Given the description of an element on the screen output the (x, y) to click on. 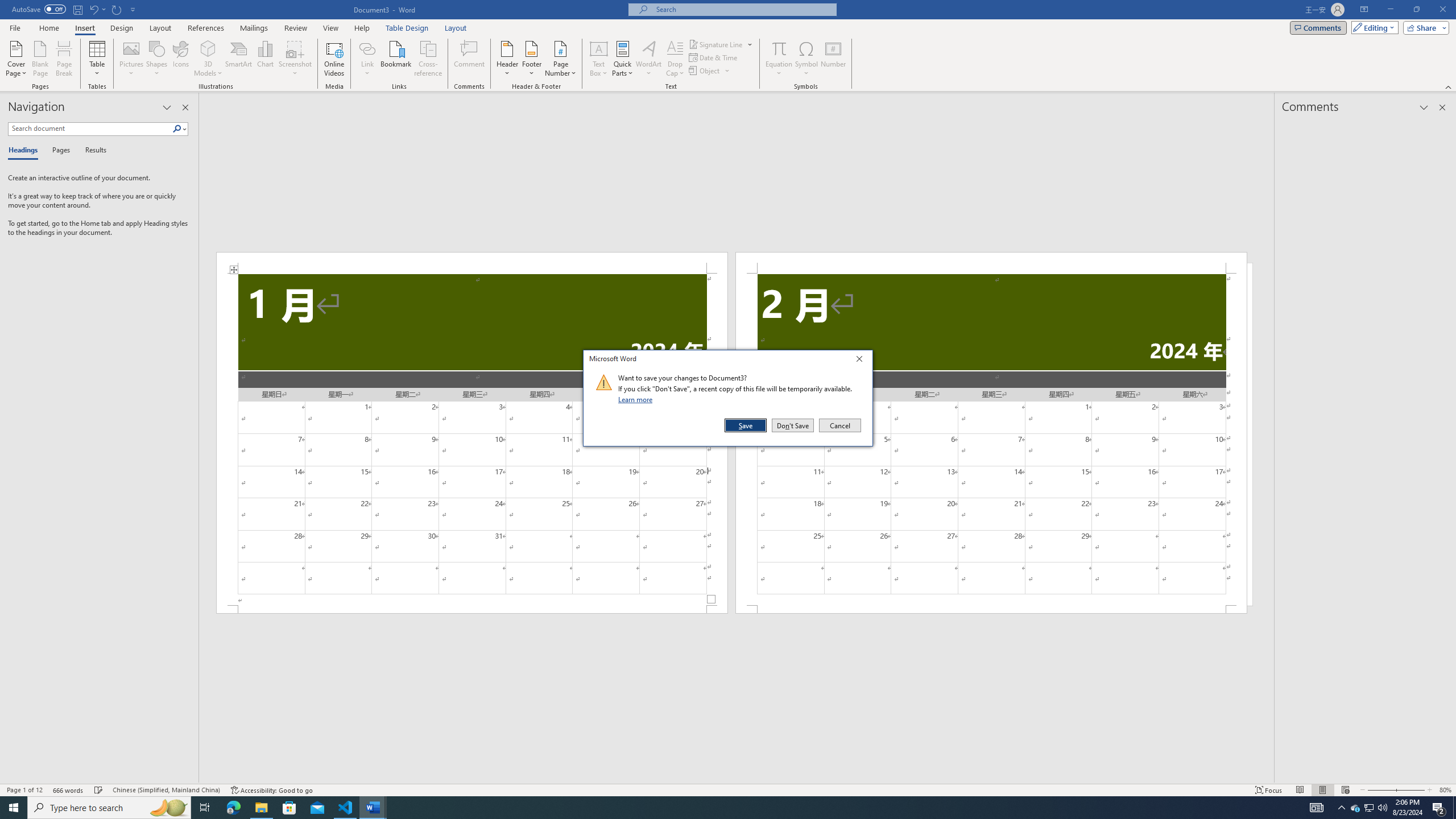
Search document (89, 128)
Running applications (717, 807)
SmartArt... (238, 58)
Microsoft search (742, 9)
Visual Studio Code - 1 running window (345, 807)
Save (746, 425)
3D Models (208, 48)
Microsoft Edge (1355, 807)
Undo Increase Indent (233, 807)
Online Videos... (92, 9)
Accessibility Checker Accessibility: Good to go (333, 58)
Bookmark... (271, 790)
